Given the description of an element on the screen output the (x, y) to click on. 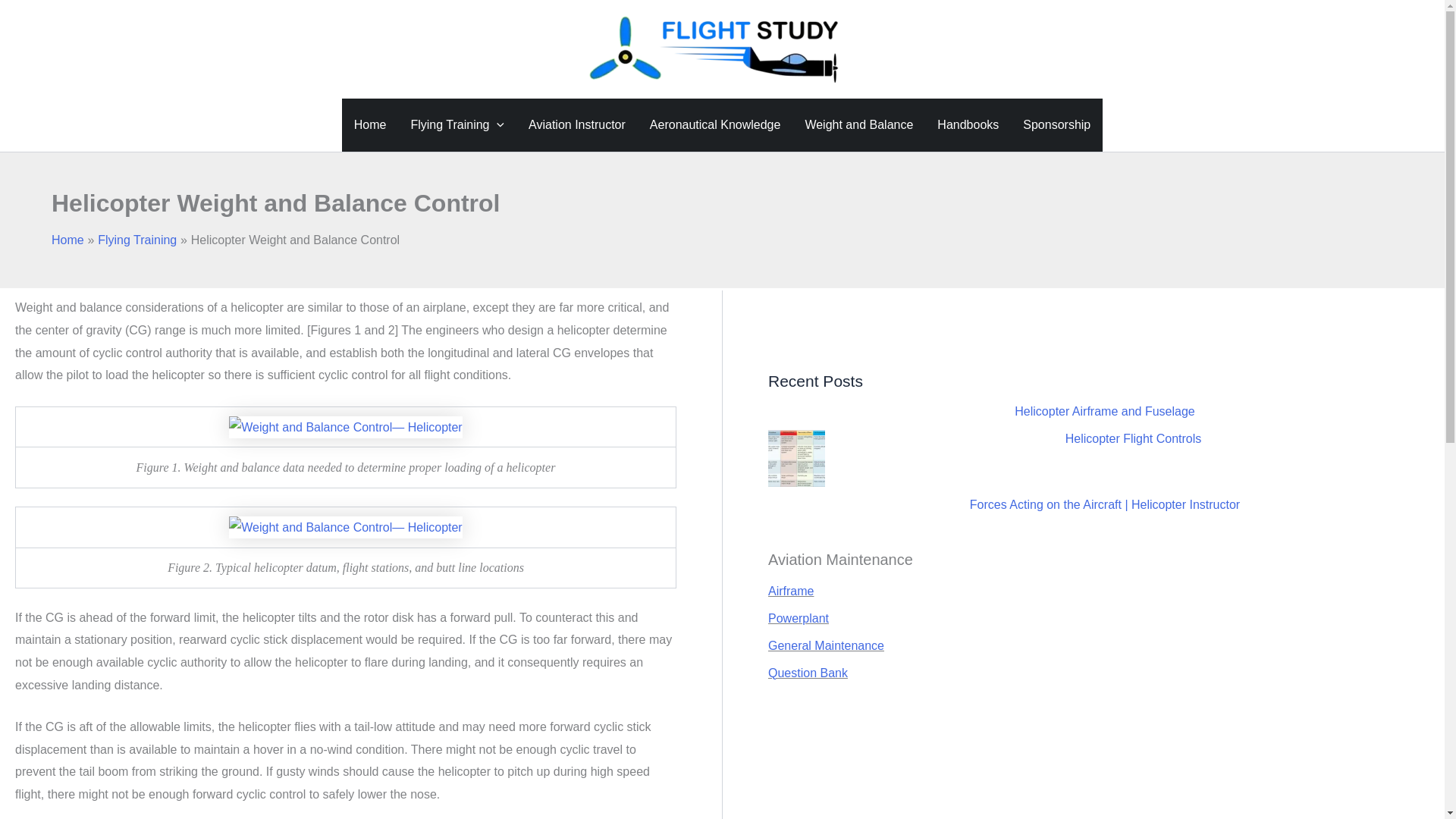
Aviation Instructor (576, 124)
Handbooks (967, 124)
Flying Training (136, 239)
Aeronautical Knowledge (715, 124)
Helicopter Airframe and Fuselage (1103, 410)
Flying Training (456, 124)
Home (370, 124)
Home (67, 239)
